Given the description of an element on the screen output the (x, y) to click on. 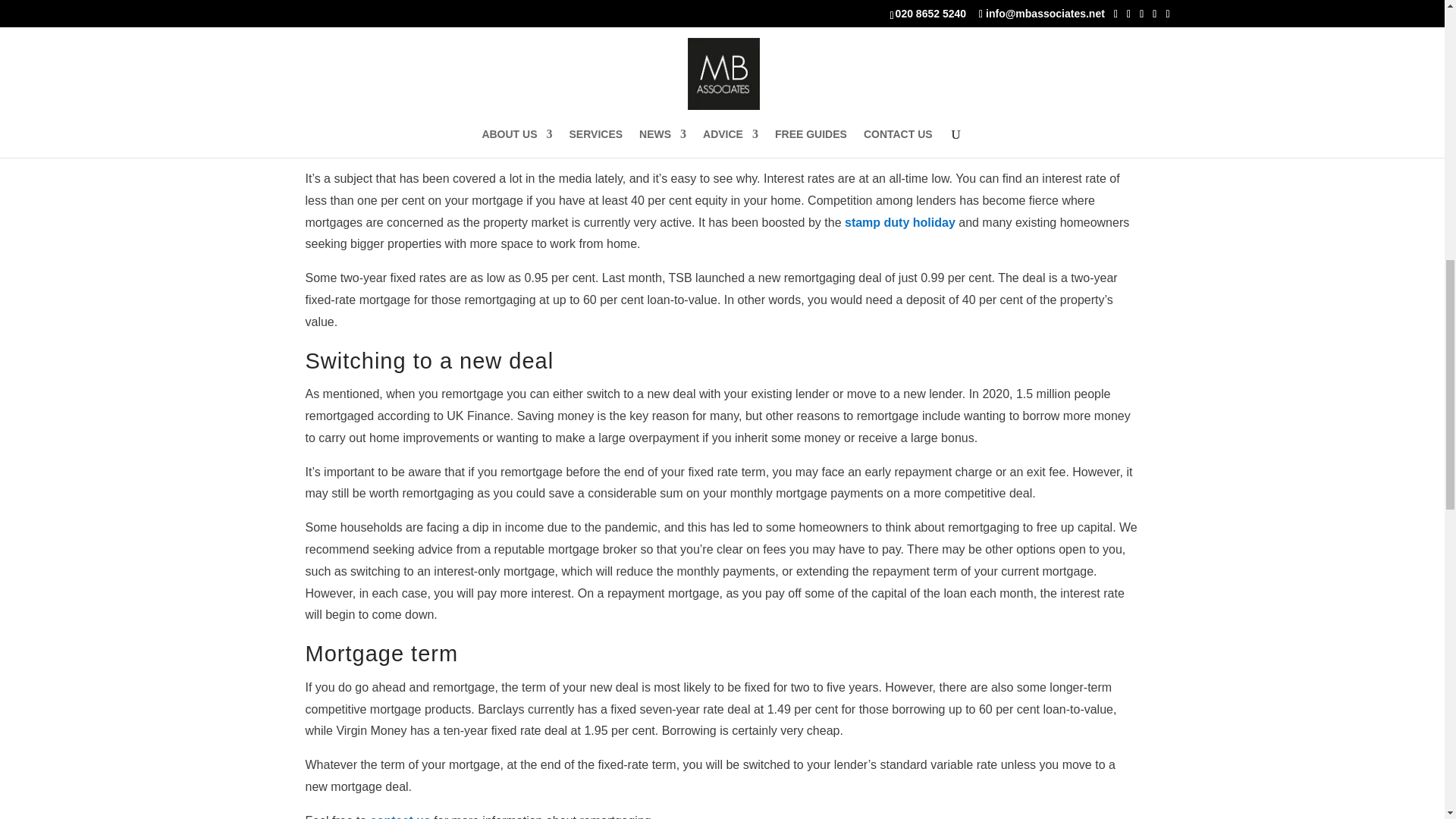
stamp duty holiday (899, 222)
contact us (399, 816)
